Given the description of an element on the screen output the (x, y) to click on. 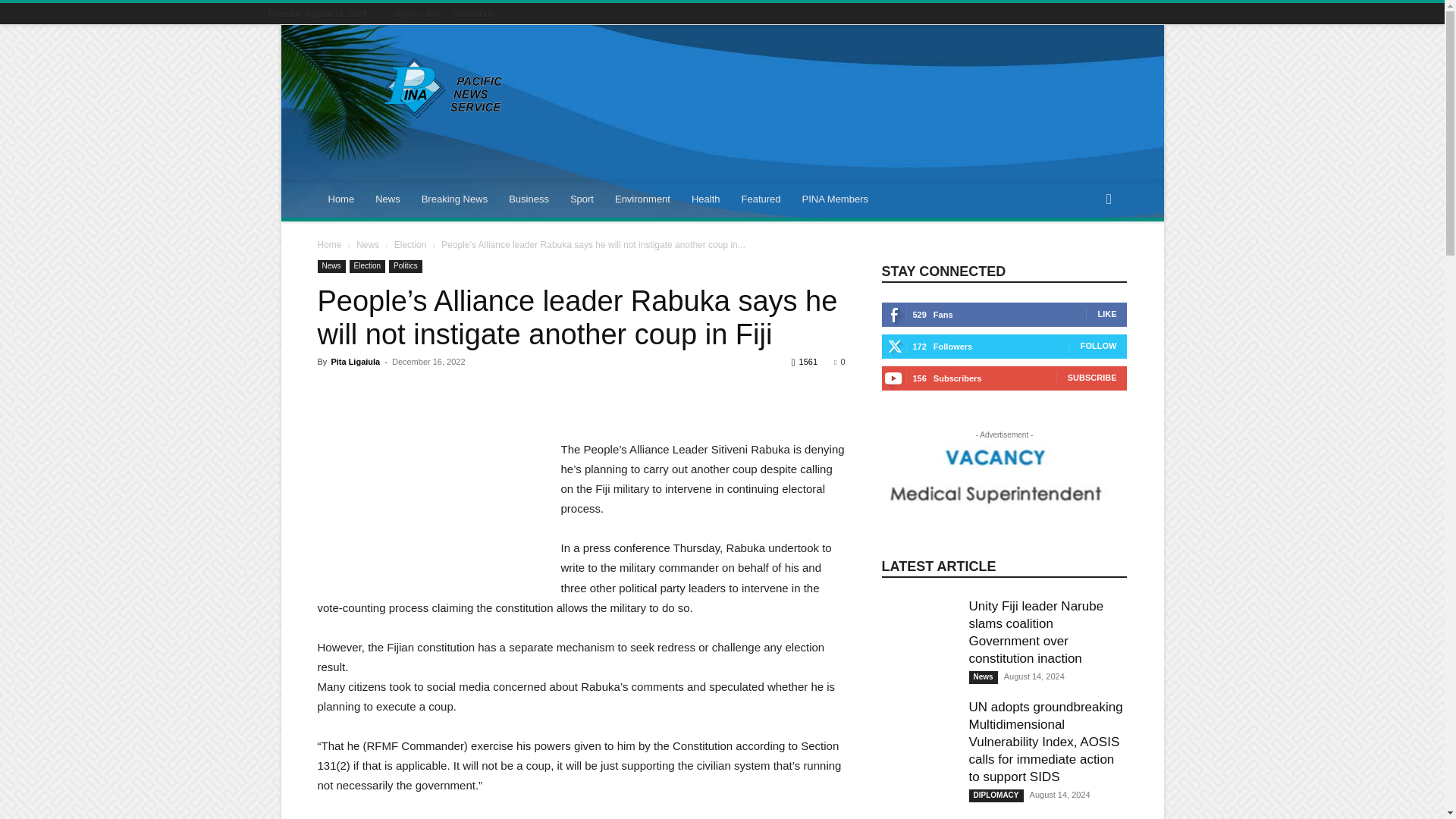
Home (341, 198)
Contact Us (472, 13)
Pacific Islands News Association (445, 88)
News (387, 198)
